Given the description of an element on the screen output the (x, y) to click on. 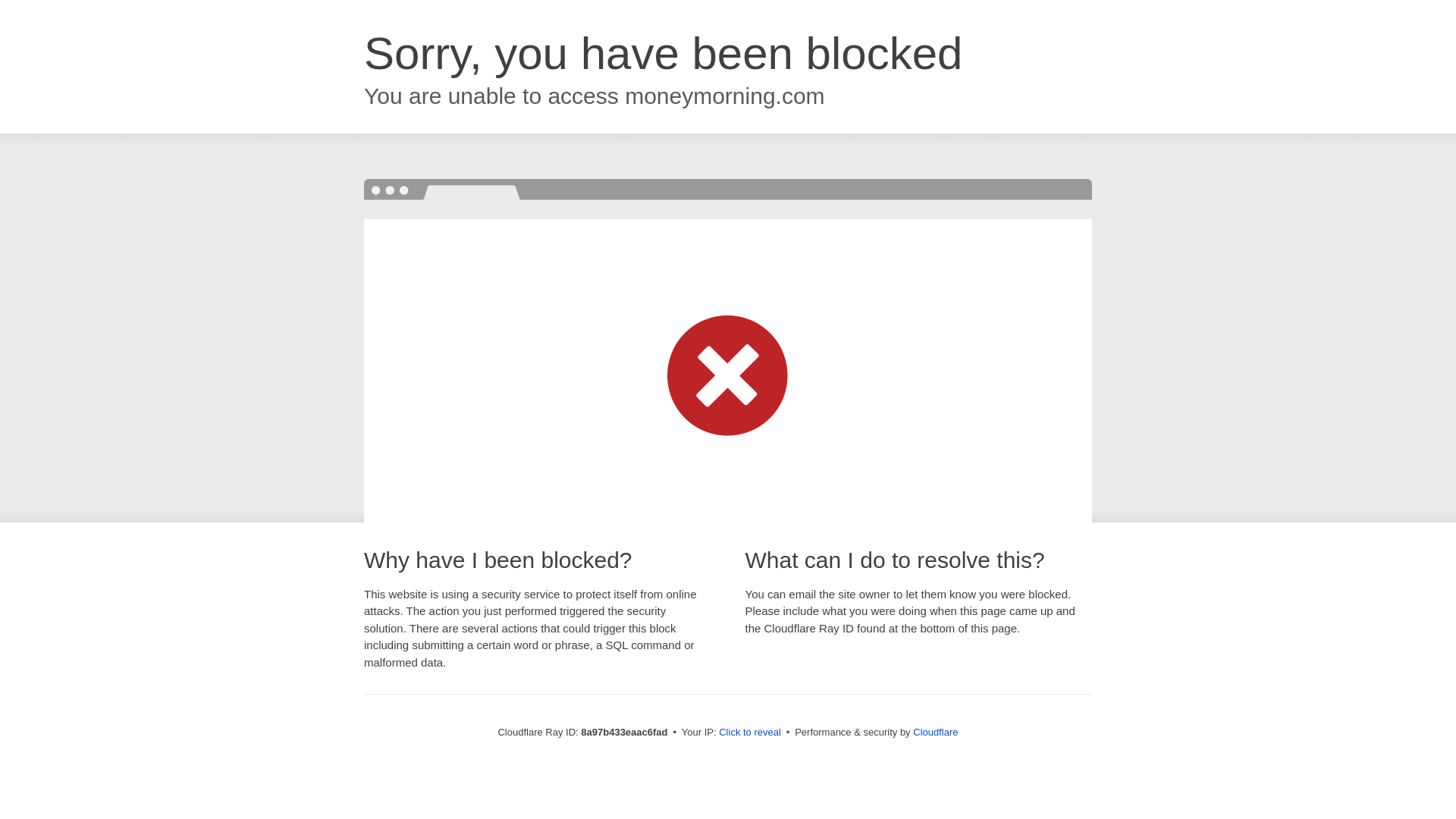
Cloudflare (935, 731)
Click to reveal (749, 732)
